Given the description of an element on the screen output the (x, y) to click on. 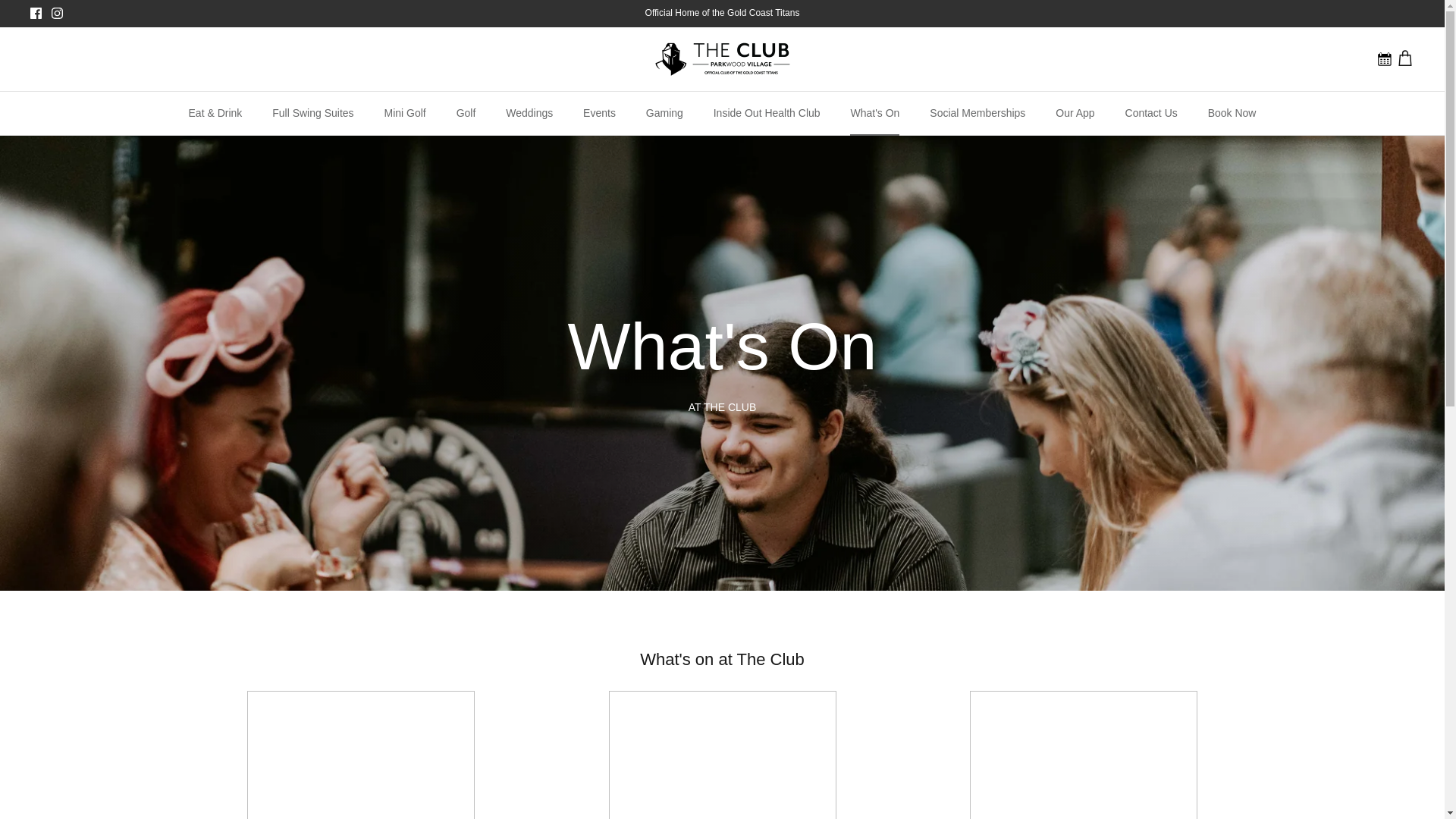
Mini Golf (404, 113)
Facebook (36, 12)
Golf (465, 113)
Social Memberships (977, 113)
Events (598, 113)
The Club at Parkwood Village (722, 59)
Our App (1386, 58)
Cart (1075, 113)
Contact Us (1404, 58)
Calendar SVG icon (1151, 113)
Full Swing Suites (1386, 58)
Book Now (312, 113)
Gaming (1231, 113)
Inside Out Health Club (664, 113)
